Given the description of an element on the screen output the (x, y) to click on. 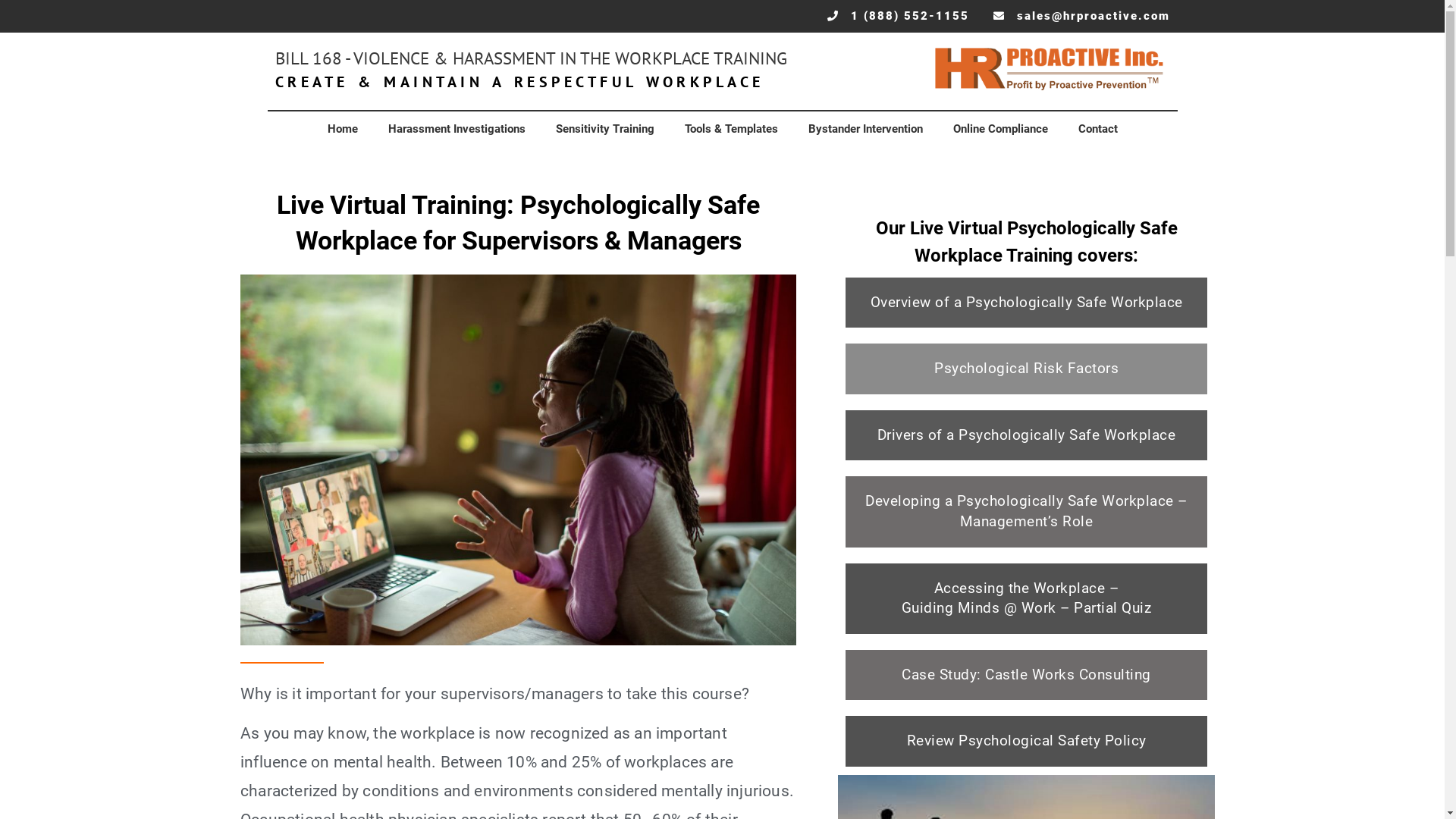
sales@hrproactive.com Element type: text (1080, 16)
Bystander Intervention Element type: text (865, 128)
CREATE & MAINTAIN A RESPECTFUL WORKPLACE Element type: text (518, 81)
Contact Element type: text (1097, 128)
Harassment Investigations Element type: text (456, 128)
BILL 168 - VIOLENCE & HARASSMENT IN THE WORKPLACE TRAINING Element type: text (530, 58)
Sensitivity Training Element type: text (603, 128)
Home Element type: text (342, 128)
Tools & Templates Element type: text (730, 128)
Online Compliance Element type: text (999, 128)
1 (888) 552-1155 Element type: text (897, 16)
